Given the description of an element on the screen output the (x, y) to click on. 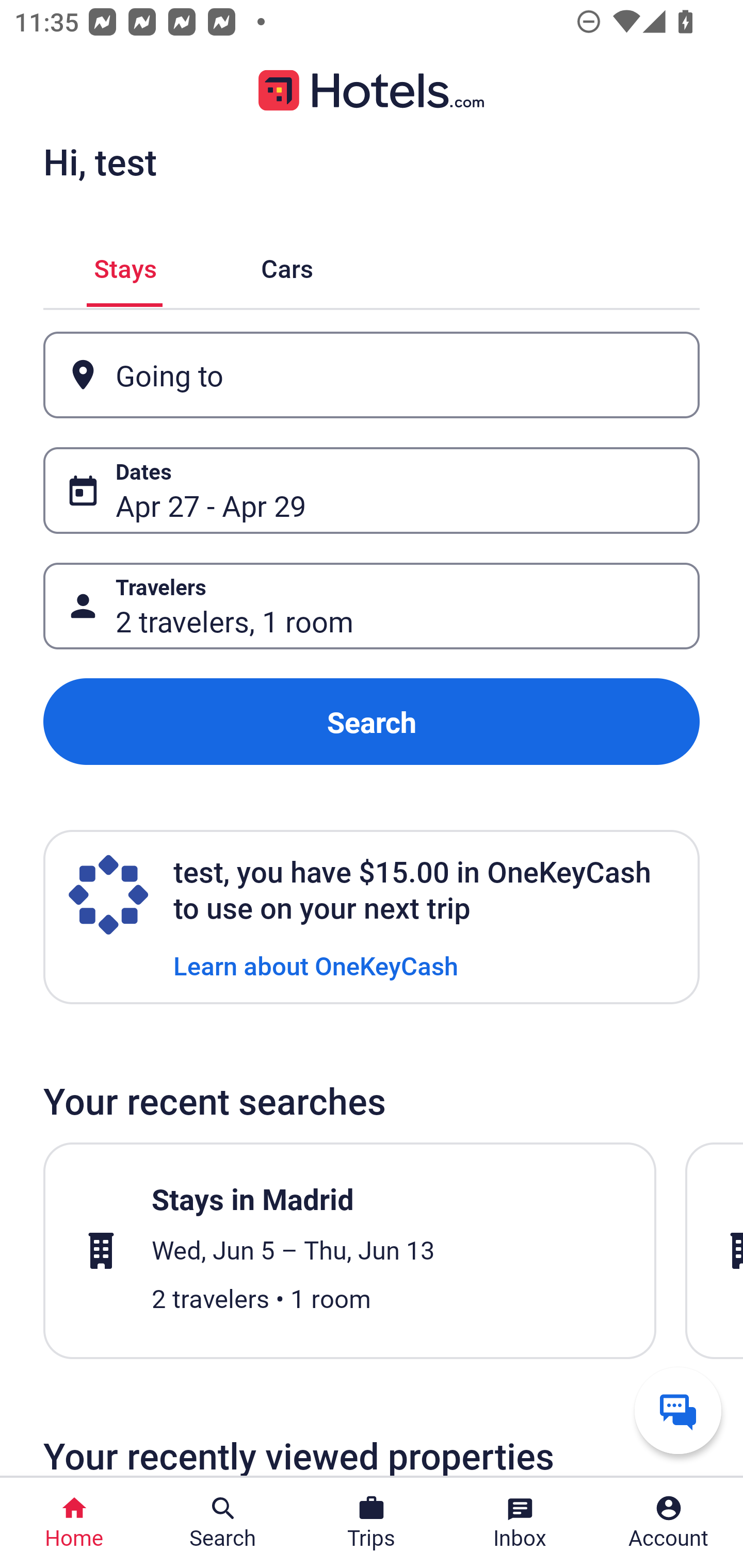
Hi, test (99, 161)
Cars (286, 265)
Going to Button (371, 375)
Dates Button Apr 27 - Apr 29 (371, 489)
Travelers Button 2 travelers, 1 room (371, 605)
Search (371, 721)
Learn about OneKeyCash Learn about OneKeyCash Link (315, 964)
Get help from a virtual agent (677, 1410)
Search Search Button (222, 1522)
Trips Trips Button (371, 1522)
Inbox Inbox Button (519, 1522)
Account Profile. Button (668, 1522)
